Given the description of an element on the screen output the (x, y) to click on. 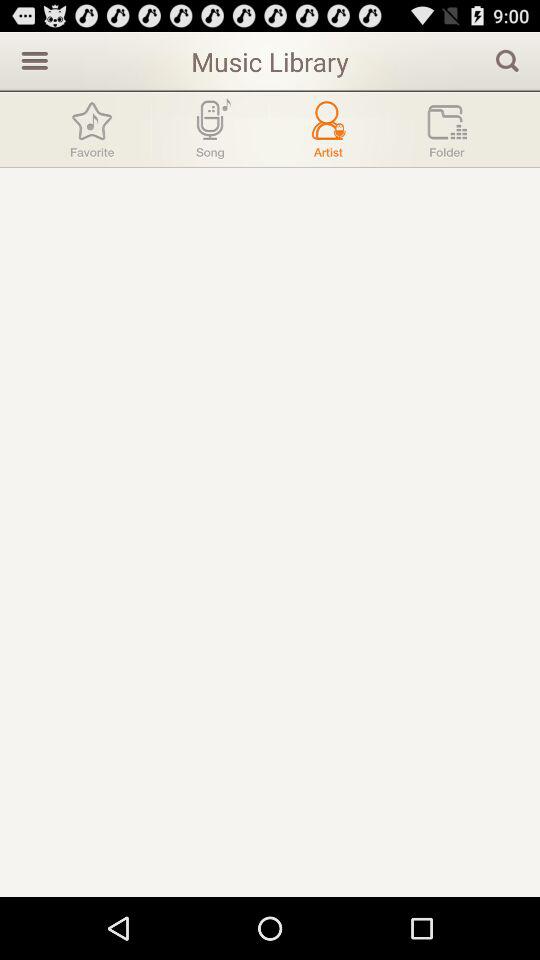
go favorite (92, 129)
